Given the description of an element on the screen output the (x, y) to click on. 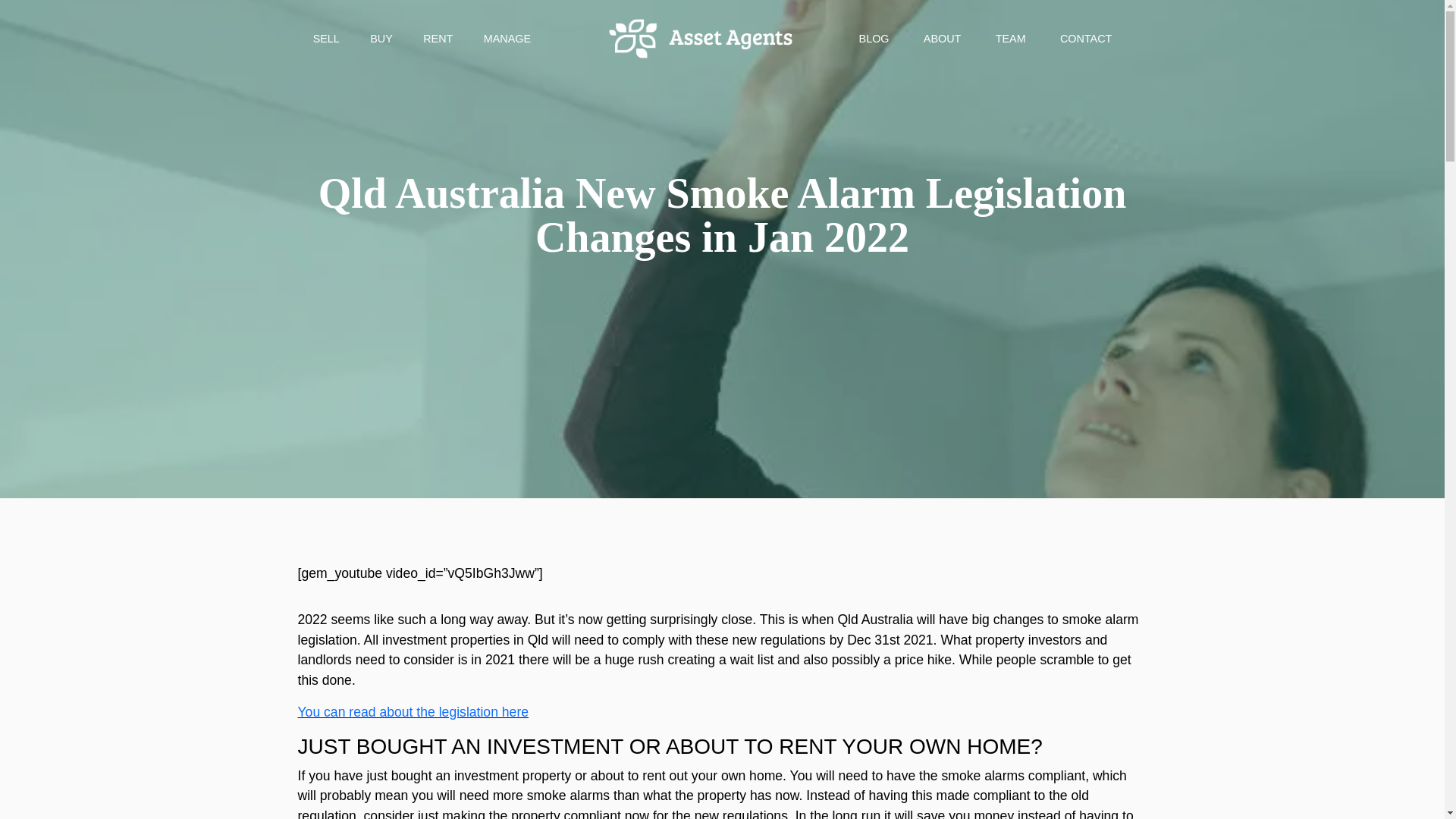
BUY (381, 38)
BLOG (873, 38)
TEAM (1010, 38)
RENT (437, 38)
ABOUT (942, 38)
SELL (325, 38)
CONTACT (1085, 38)
MANAGE (507, 38)
